Given the description of an element on the screen output the (x, y) to click on. 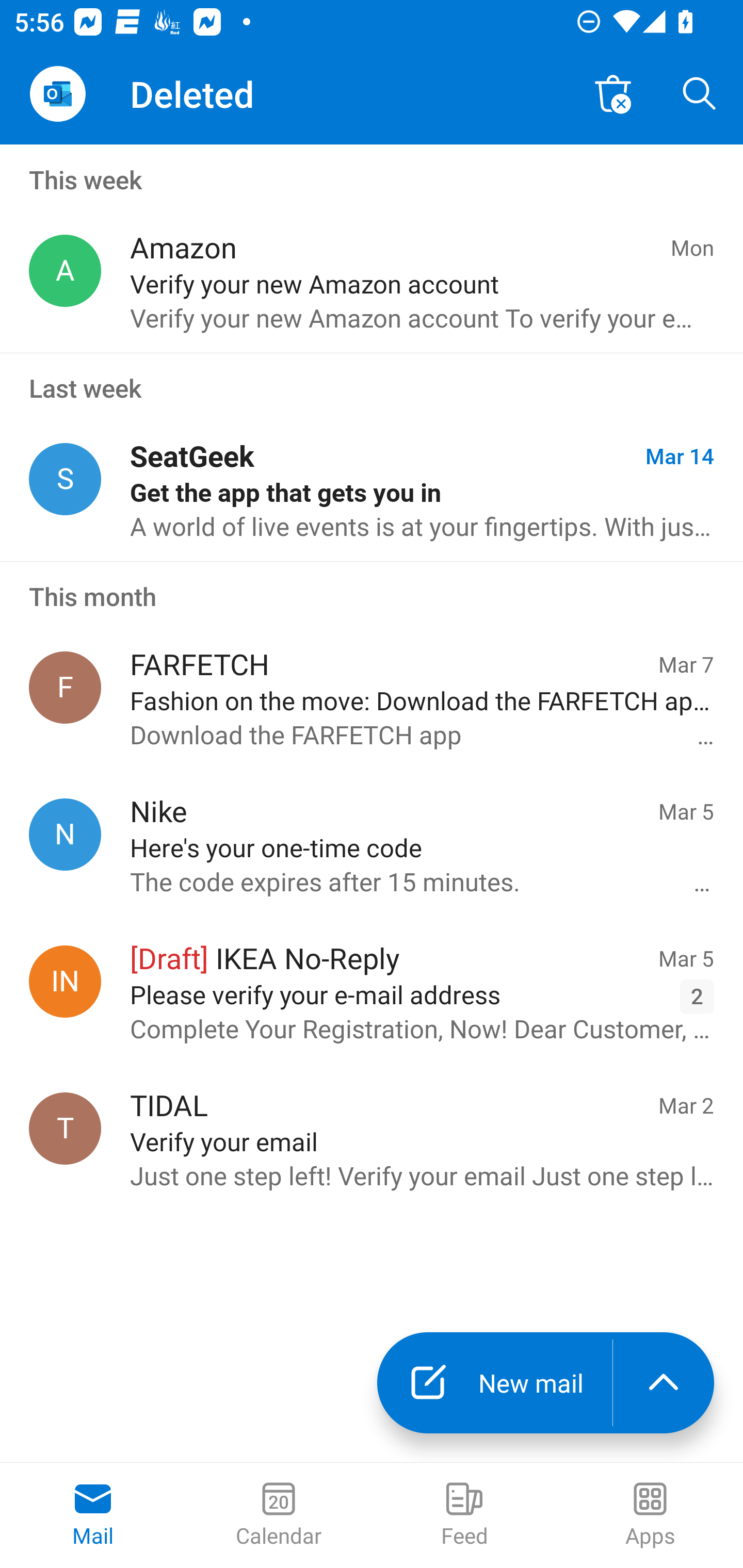
Empty Deleted (612, 93)
Search, ,  (699, 93)
Open Navigation Drawer (57, 94)
Amazon, account-update@amazon.com (64, 271)
SeatGeek, events@seatgeek.com (64, 479)
FARFETCH, farfetch@email.farfetch.com (64, 687)
Nike, nike@notifications.nike.com (64, 834)
IKEA No-Reply, noreply@ikea.com.hk (64, 981)
TIDAL, account@info.tidal.com (64, 1128)
New mail (494, 1382)
launch the extended action menu (663, 1382)
Calendar (278, 1515)
Feed (464, 1515)
Apps (650, 1515)
